Given the description of an element on the screen output the (x, y) to click on. 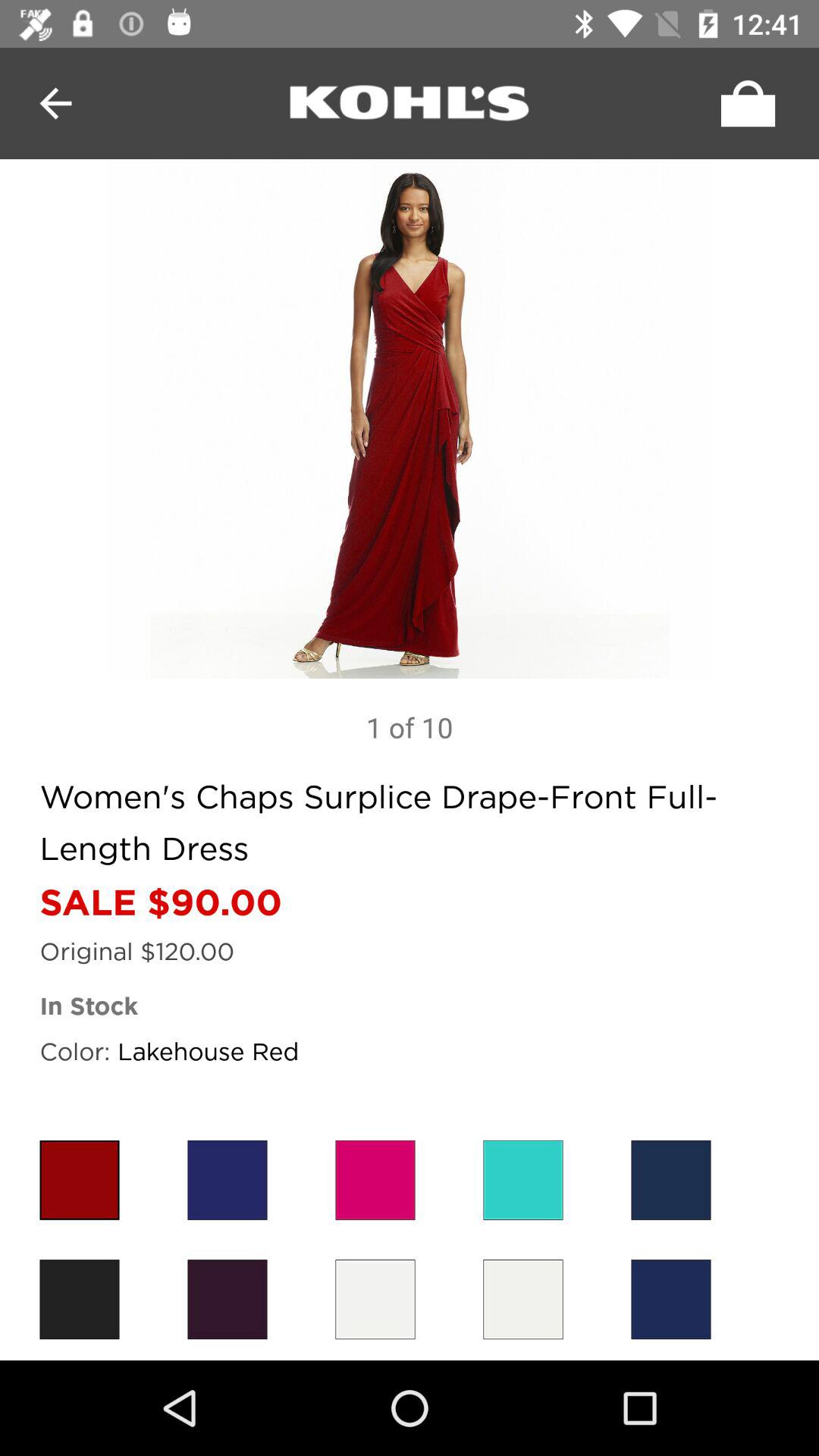
select red color (375, 1179)
